Given the description of an element on the screen output the (x, y) to click on. 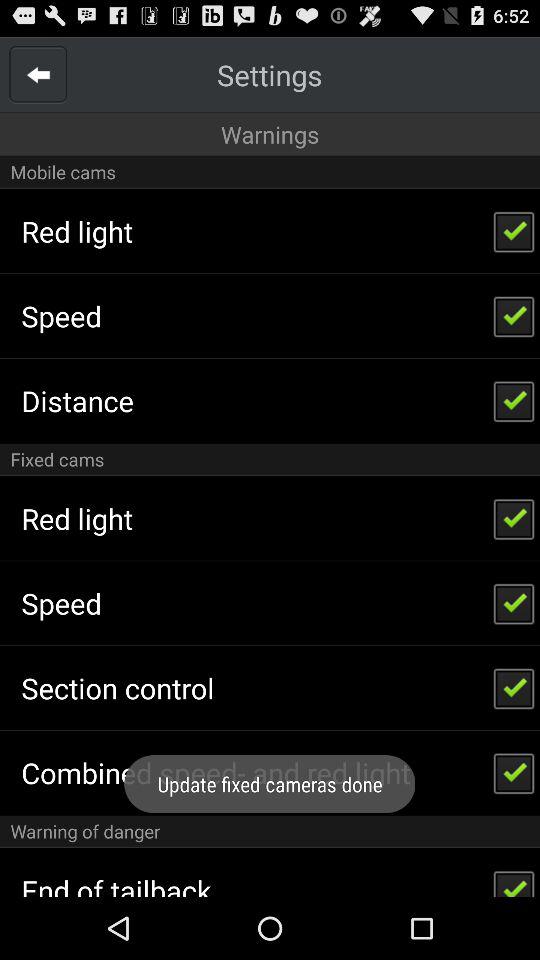
back to (38, 74)
